Given the description of an element on the screen output the (x, y) to click on. 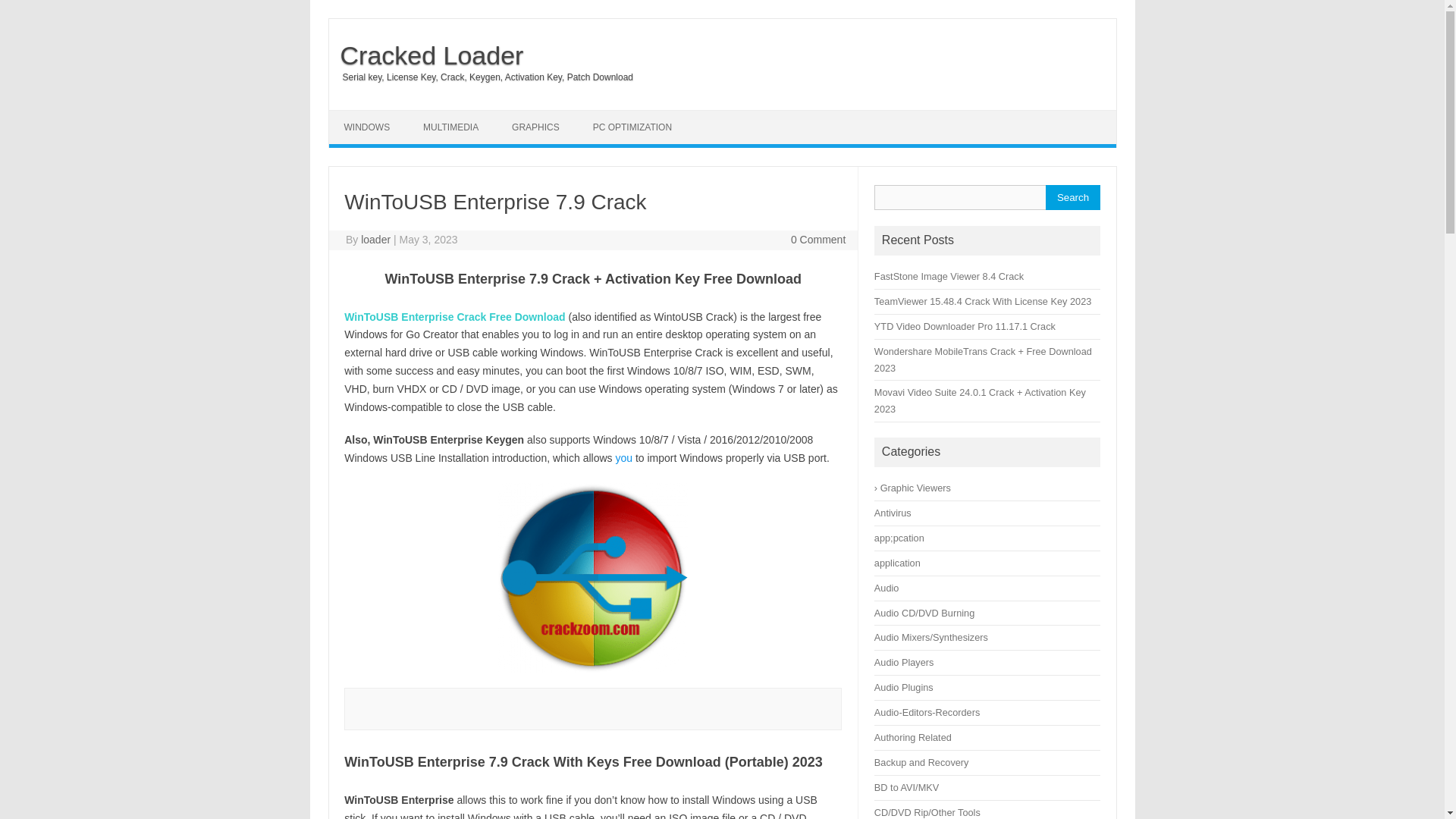
you (622, 458)
Search (1072, 197)
Authoring Related (913, 737)
TeamViewer 15.48.4 Crack With License Key 2023 (982, 301)
GRAPHICS (535, 127)
YTD Video Downloader Pro 11.17.1 Crack (965, 326)
FastStone Image Viewer 8.4 Crack  (950, 276)
application (897, 562)
Audio (887, 587)
MULTIMEDIA (450, 127)
Audio-Editors-Recorders (927, 712)
Audio Plugins (904, 686)
